Given the description of an element on the screen output the (x, y) to click on. 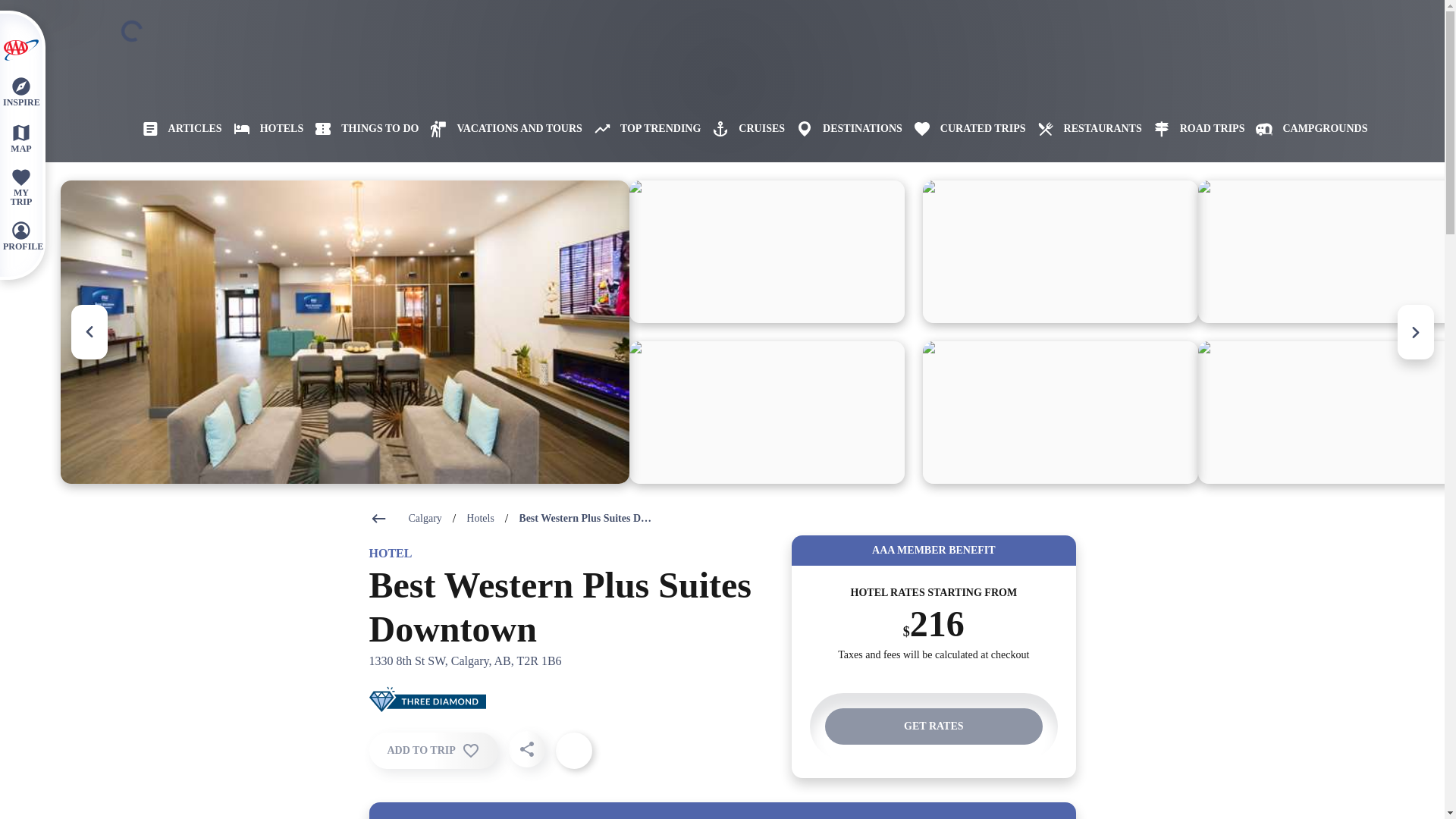
DESTINATIONS (843, 128)
ROAD TRIPS (1192, 128)
CURATED TRIPS (964, 128)
MAP (20, 137)
HOTELS (263, 128)
VACATIONS AND TOURS (499, 128)
Best Western Plus Suites Downtown (585, 518)
PROFILE (20, 235)
CAMPGROUNDS (1305, 128)
CRUISES (742, 128)
